Given the description of an element on the screen output the (x, y) to click on. 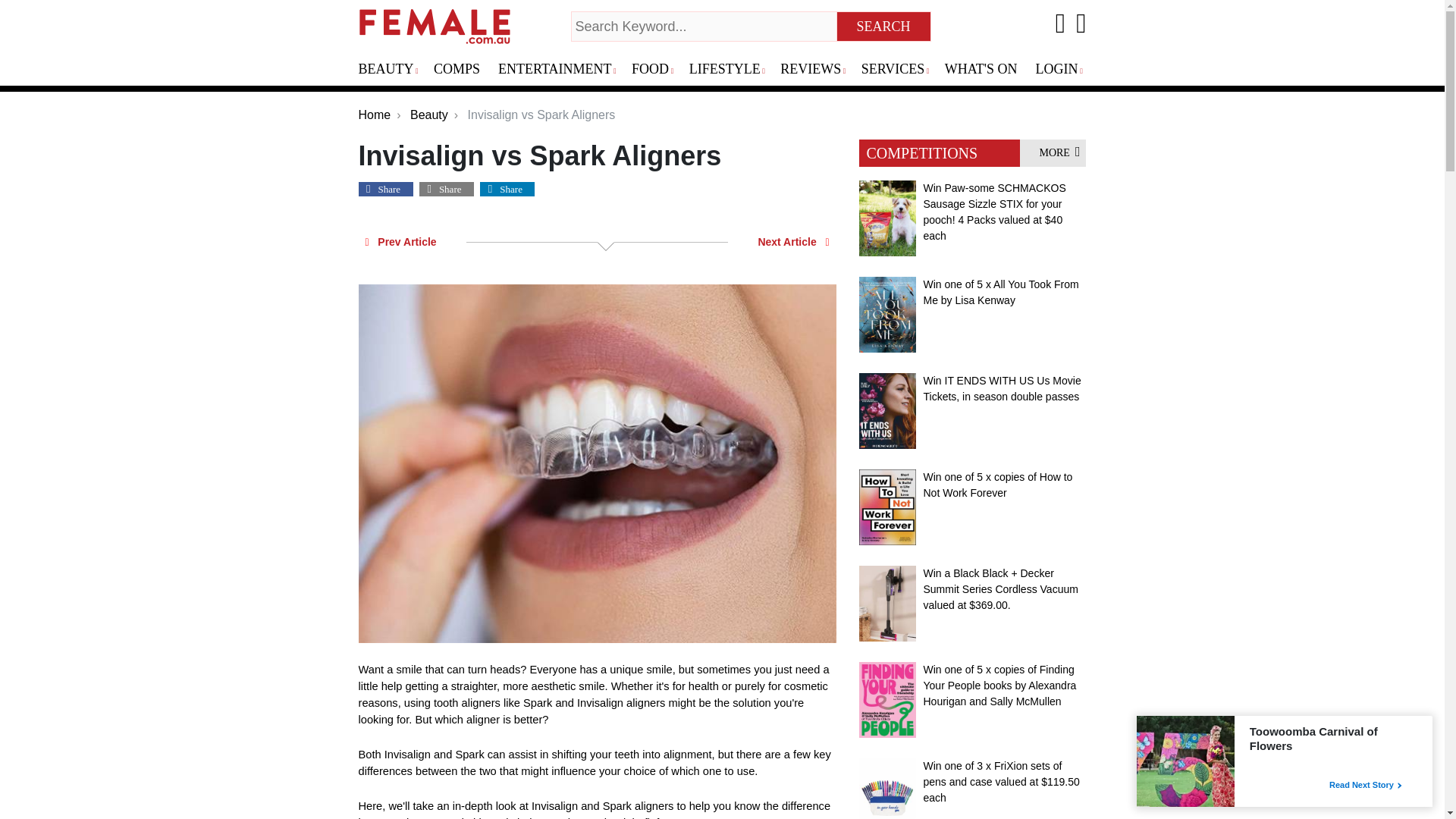
Next Article (793, 241)
SEARCH (884, 26)
SEARCH (884, 26)
ENTERTAINMENT (561, 69)
COMPS (462, 69)
BEAUTY (393, 69)
Previous Article (400, 241)
LIFESTYLE (731, 69)
SEARCH (884, 26)
FOOD (656, 69)
